Given the description of an element on the screen output the (x, y) to click on. 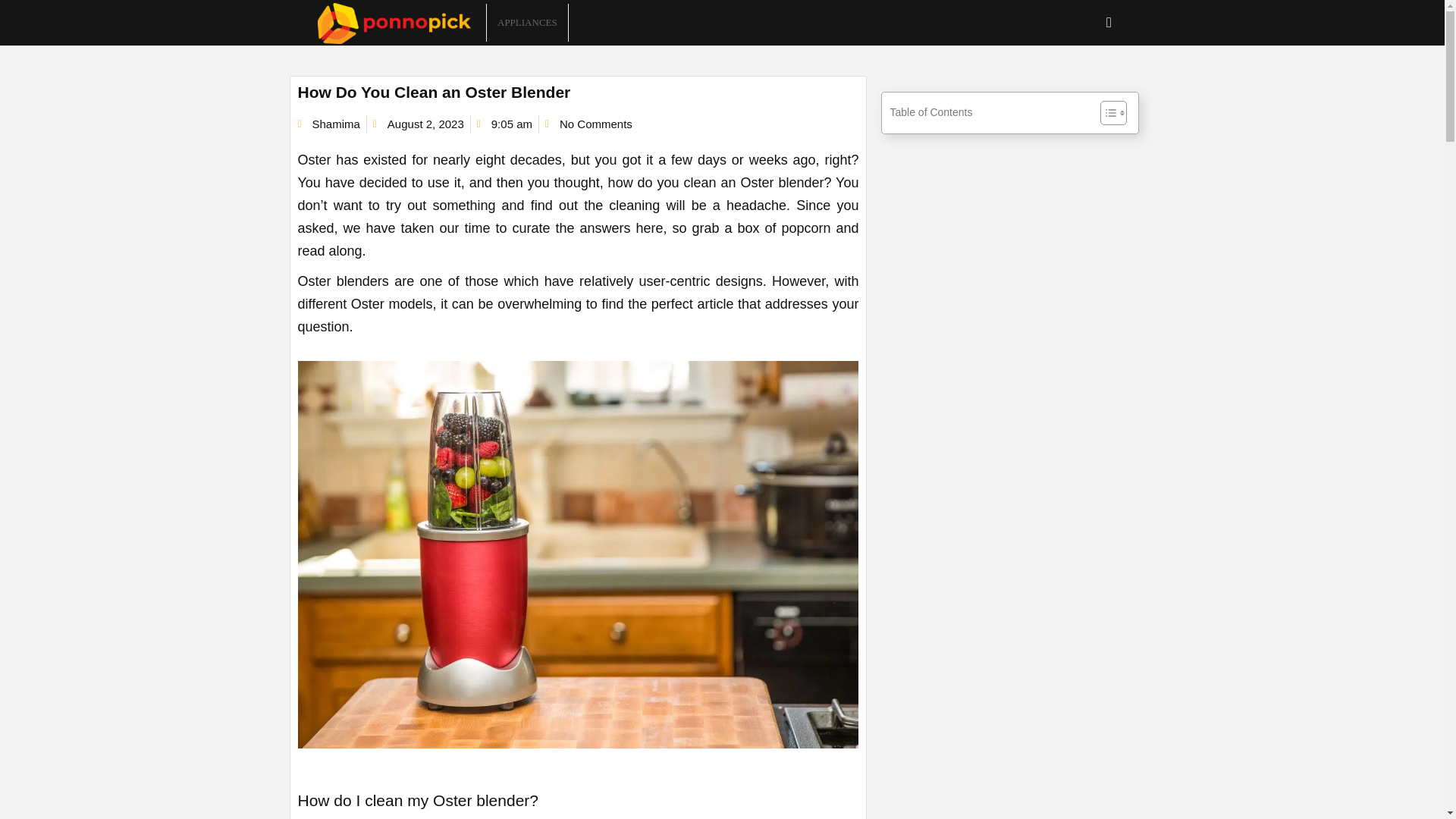
APPLIANCES (526, 22)
Ponnopick (401, 22)
